Given the description of an element on the screen output the (x, y) to click on. 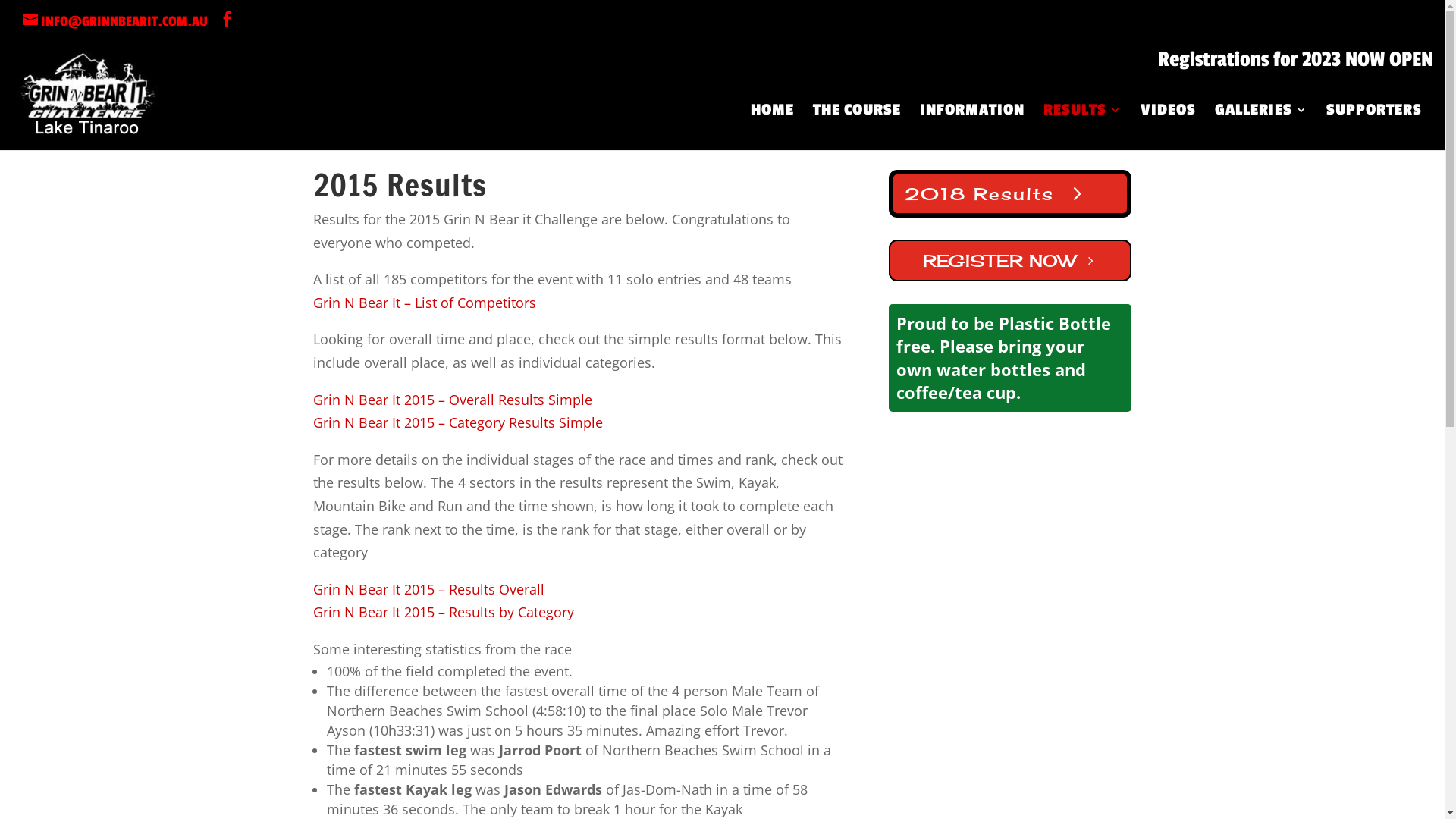
REGISTER NOW Element type: text (1009, 260)
HOME Element type: text (771, 127)
THE COURSE Element type: text (856, 127)
2018 Results Element type: text (1009, 193)
SUPPORTERS Element type: text (1373, 127)
VIDEOS Element type: text (1167, 127)
GALLERIES Element type: text (1260, 127)
INFORMATION Element type: text (971, 127)
RESULTS Element type: text (1082, 127)
INFO@GRINNBEARIT.COM.AU Element type: text (114, 20)
